Given the description of an element on the screen output the (x, y) to click on. 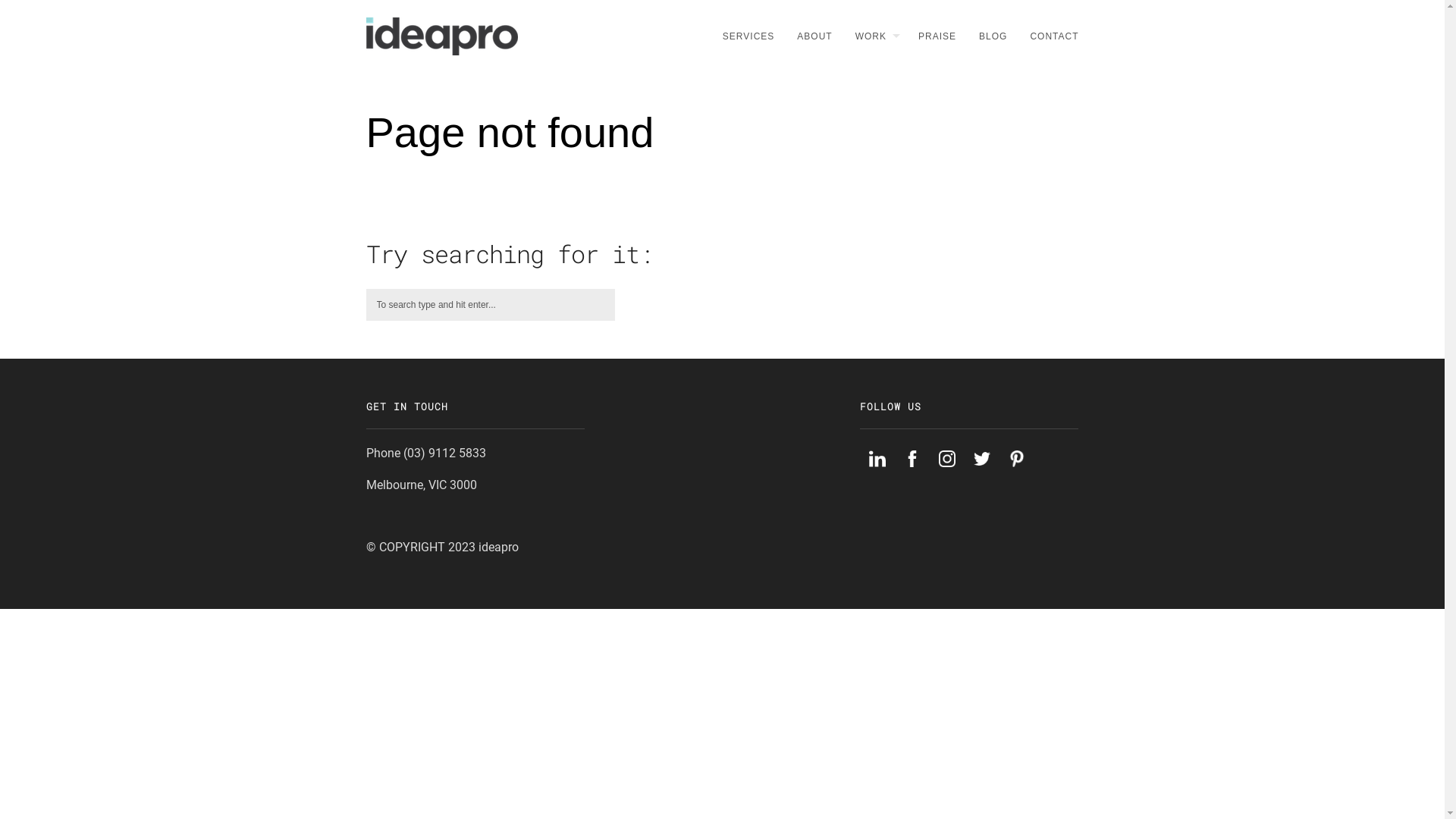
Instagram Element type: hover (946, 471)
LinkedIn Element type: hover (877, 458)
LinkedIn Element type: hover (876, 471)
Twitter Element type: hover (981, 471)
PRAISE Element type: text (931, 36)
Pinterest Element type: hover (1016, 471)
Pinterest Element type: hover (1016, 458)
BLOG Element type: text (987, 36)
Facebook Element type: hover (911, 471)
SERVICES Element type: text (742, 36)
WORK Element type: text (869, 36)
Facebook Element type: hover (911, 458)
CONTACT Element type: text (1048, 36)
Instagram Element type: hover (946, 458)
Twitter Element type: hover (981, 458)
ABOUT Element type: text (808, 36)
